Given the description of an element on the screen output the (x, y) to click on. 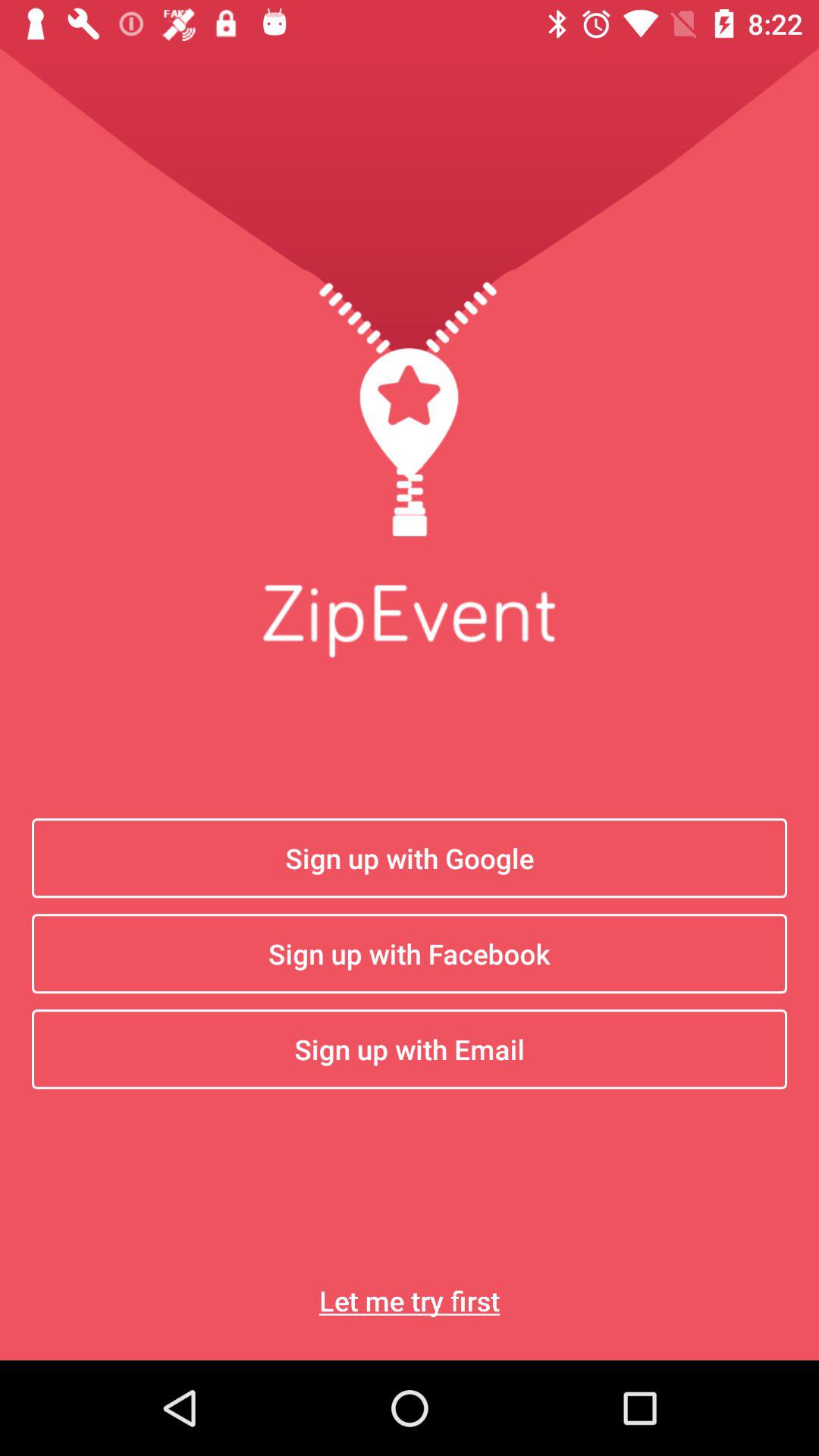
jump to the let me try (409, 1300)
